Given the description of an element on the screen output the (x, y) to click on. 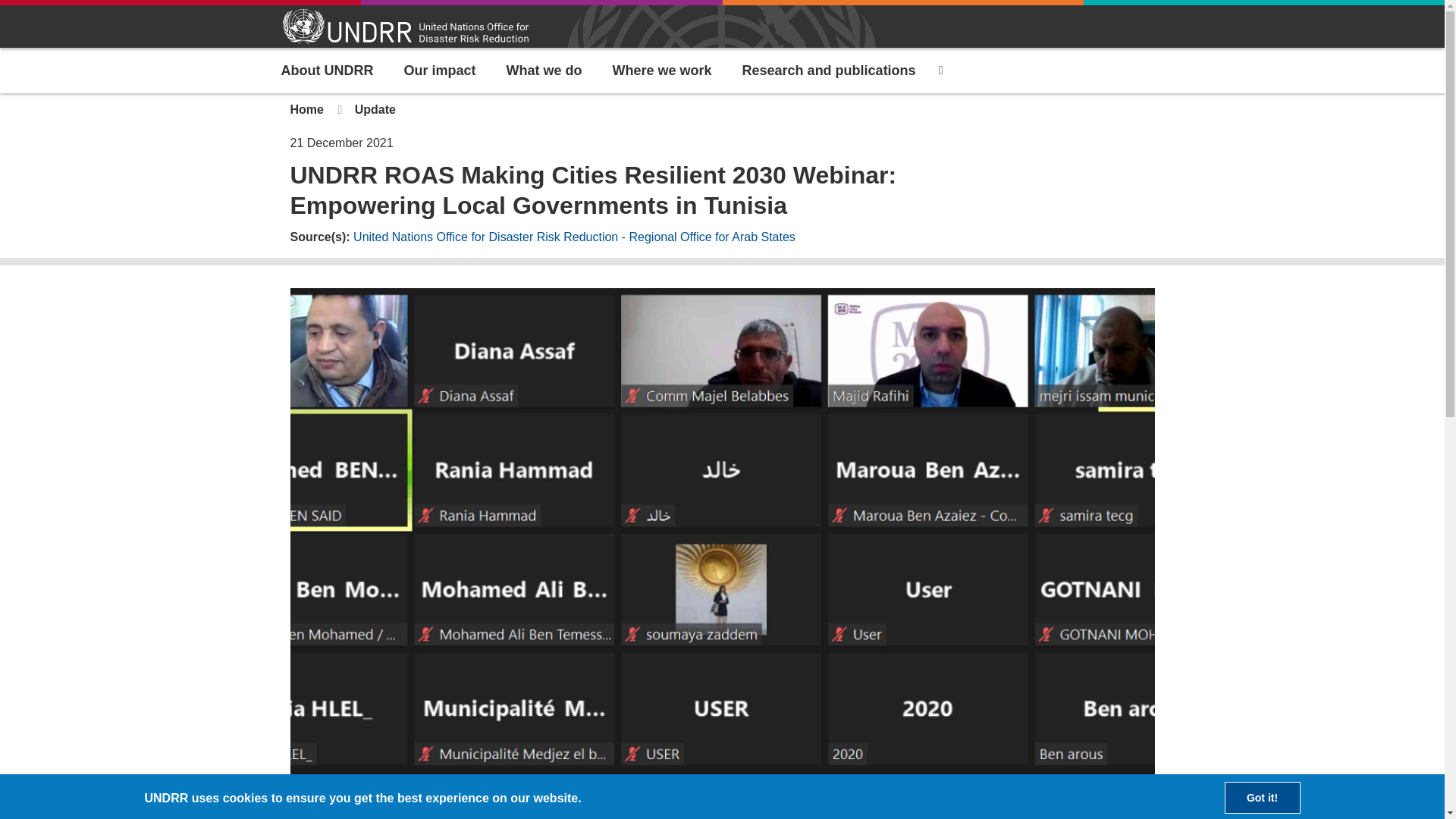
About UNDRR (326, 70)
UNDRR Logo (404, 27)
Our impact (439, 70)
